Given the description of an element on the screen output the (x, y) to click on. 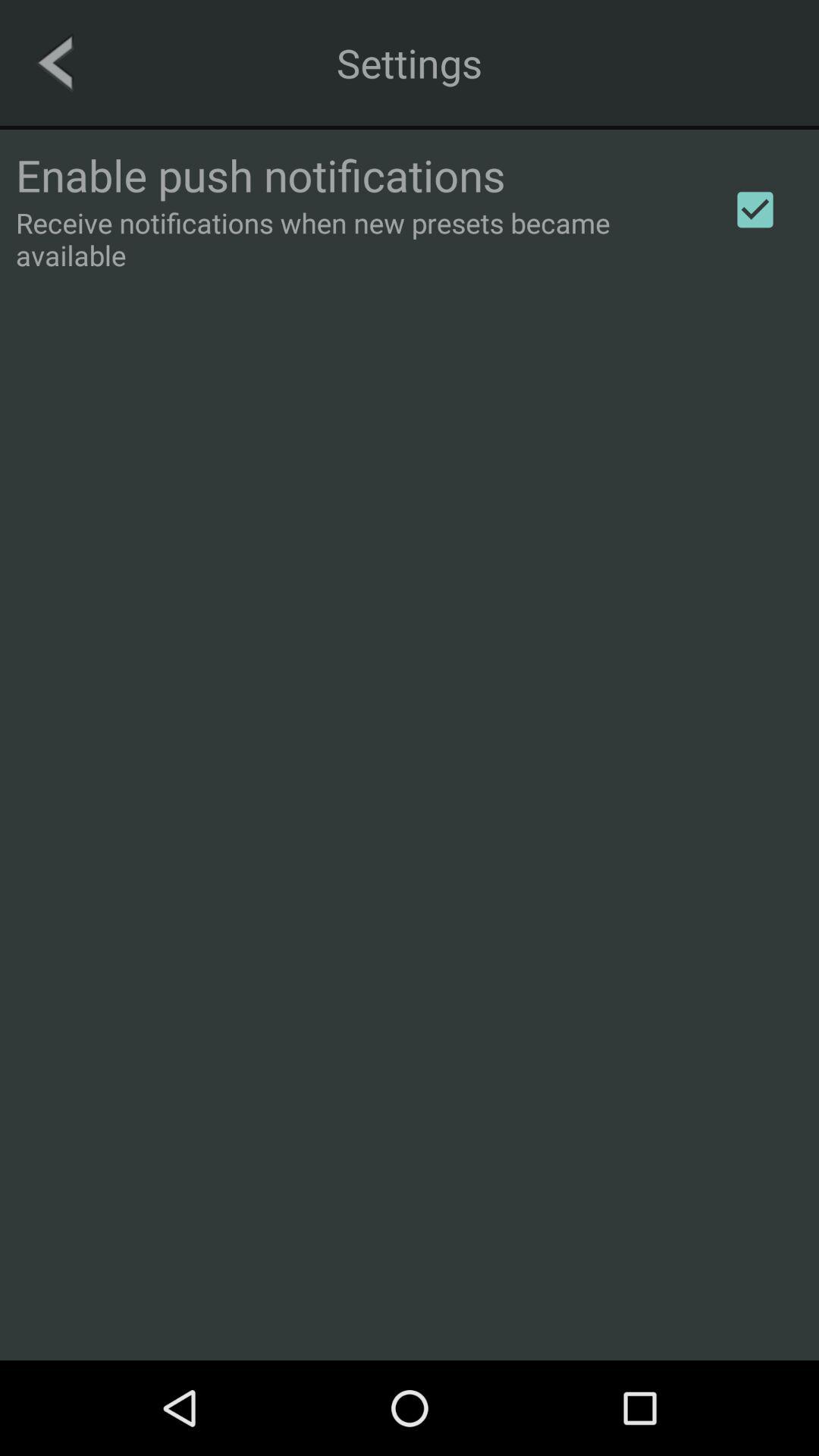
click item to the left of the settings item (54, 62)
